Given the description of an element on the screen output the (x, y) to click on. 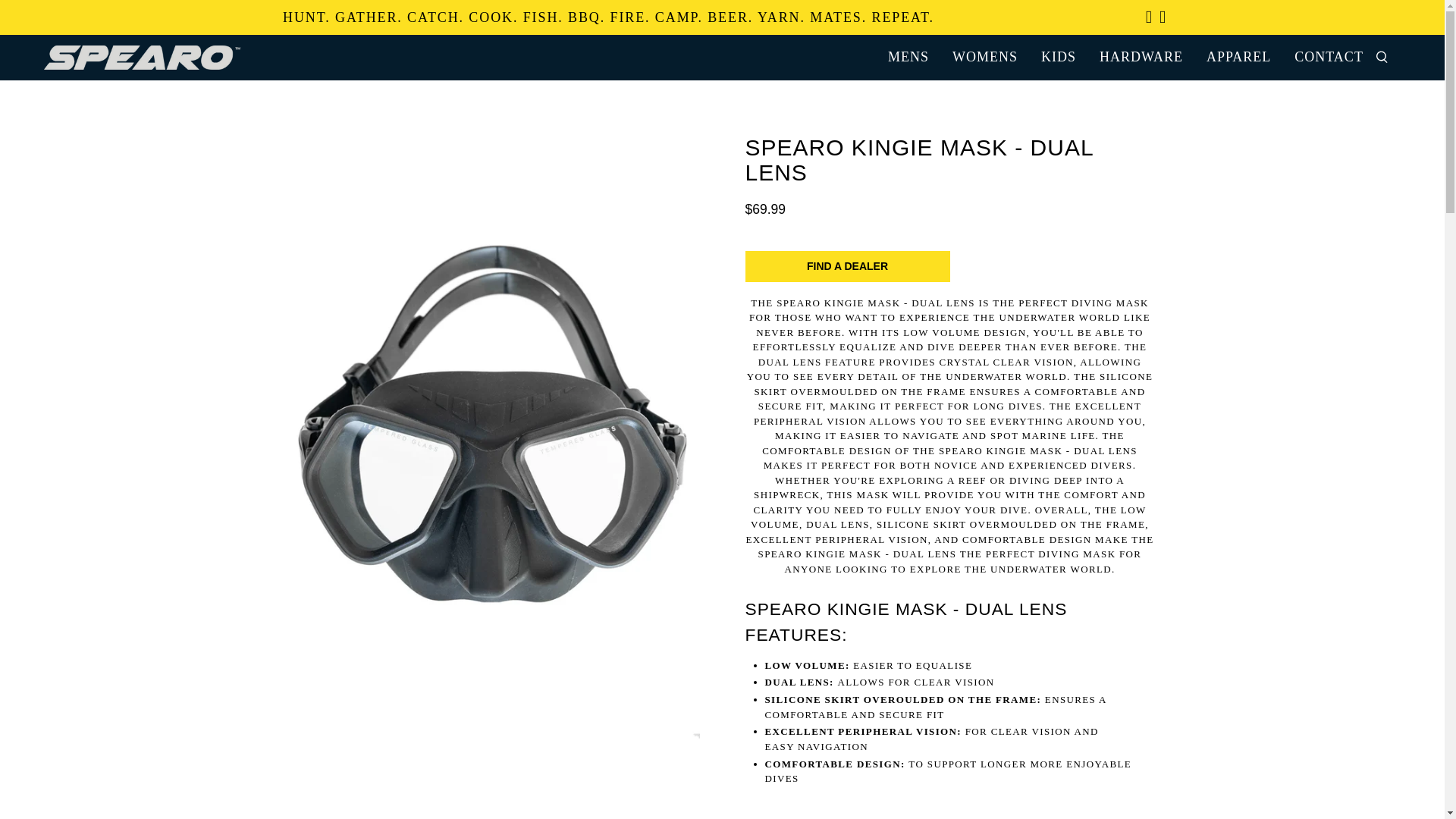
APPAREL (1238, 56)
HOME (34, 58)
MENS (907, 56)
ALL (69, 58)
HARDWARE (1140, 56)
FIND A DEALER (846, 265)
Spearo Australia  (34, 58)
KIDS (1057, 56)
Spearo Kingie Mask - Dual Lens (493, 771)
WOMENS (984, 56)
Spearo Australia  (156, 57)
CONTACT (1329, 56)
